Given the description of an element on the screen output the (x, y) to click on. 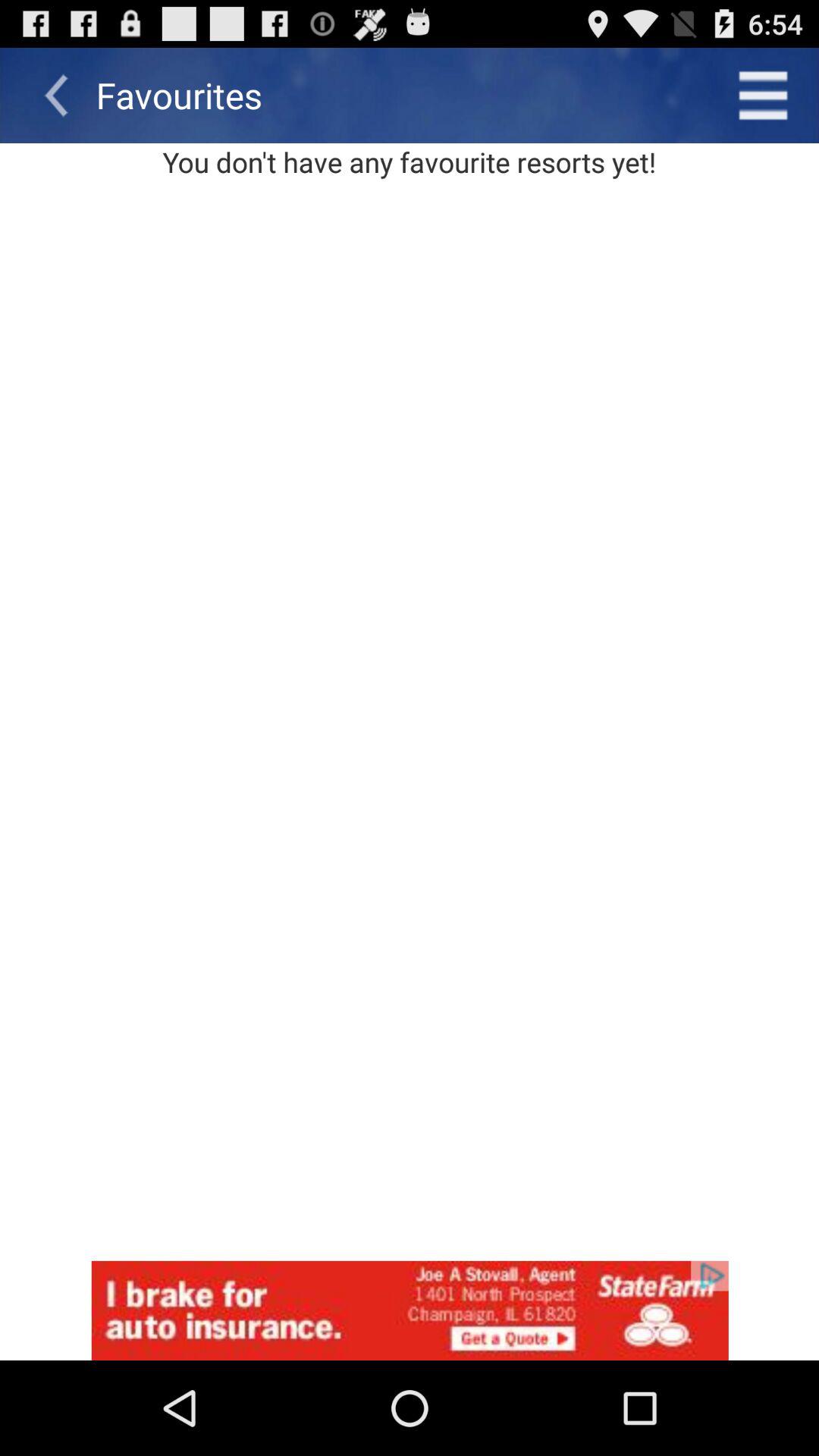
share the article (409, 1310)
